Given the description of an element on the screen output the (x, y) to click on. 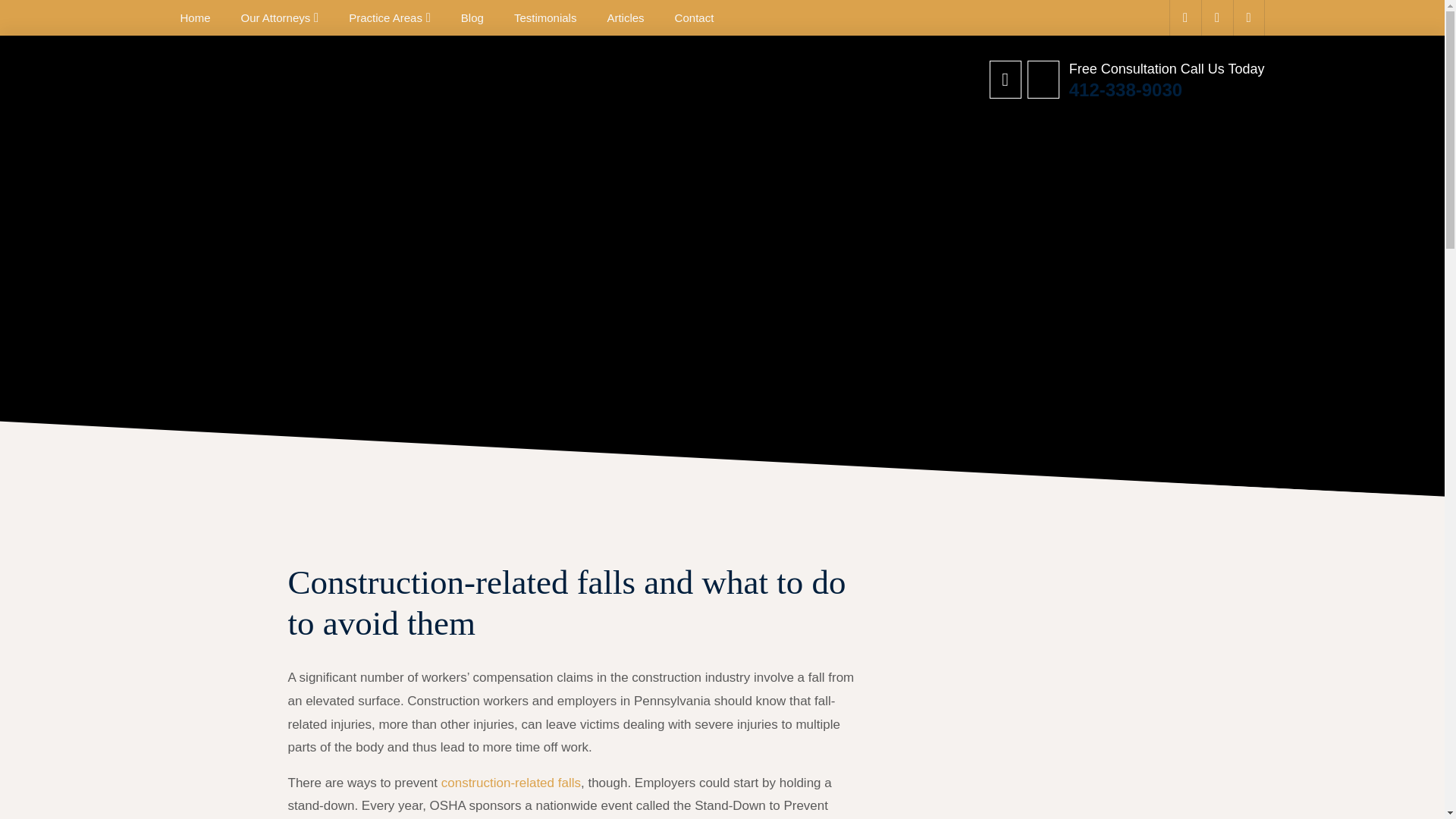
412-338-9030 (1166, 90)
Contact (694, 18)
Our Attorneys (276, 18)
Testimonials (544, 18)
Practice Areas (385, 18)
construction-related falls (510, 782)
Articles (625, 18)
